Given the description of an element on the screen output the (x, y) to click on. 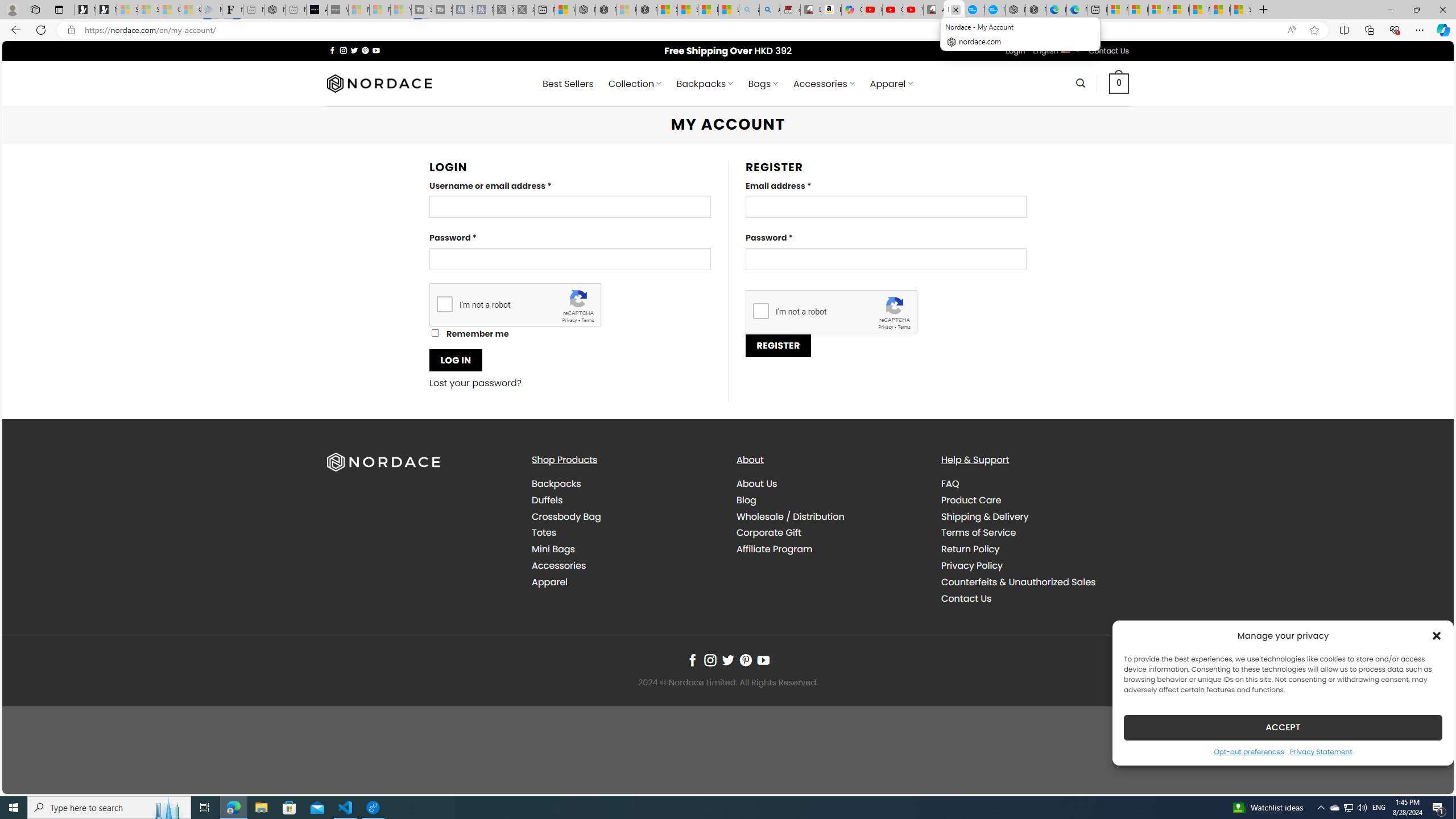
Privacy Policy (971, 565)
Follow on Pinterest (745, 659)
Backpacks (555, 483)
Wildlife - MSN (564, 9)
Follow on Facebook (691, 659)
All Cubot phones (933, 9)
